Given the description of an element on the screen output the (x, y) to click on. 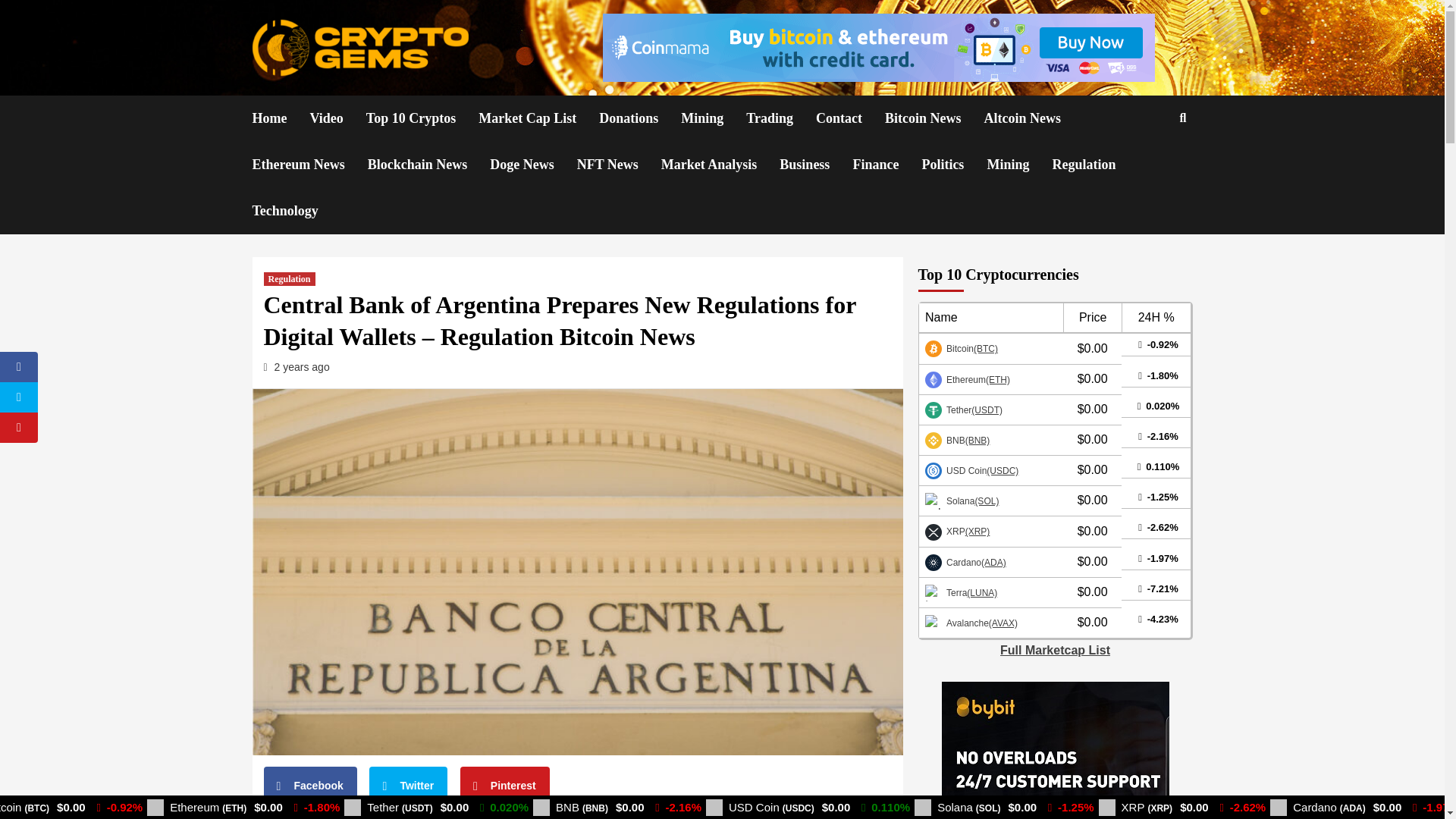
Business (814, 164)
Contact (850, 118)
Trading (780, 118)
Solana (961, 499)
Market Analysis (720, 164)
Ethereum (967, 378)
Regulation (289, 278)
Politics (954, 164)
Market Cap List (538, 118)
Search (1146, 166)
